Given the description of an element on the screen output the (x, y) to click on. 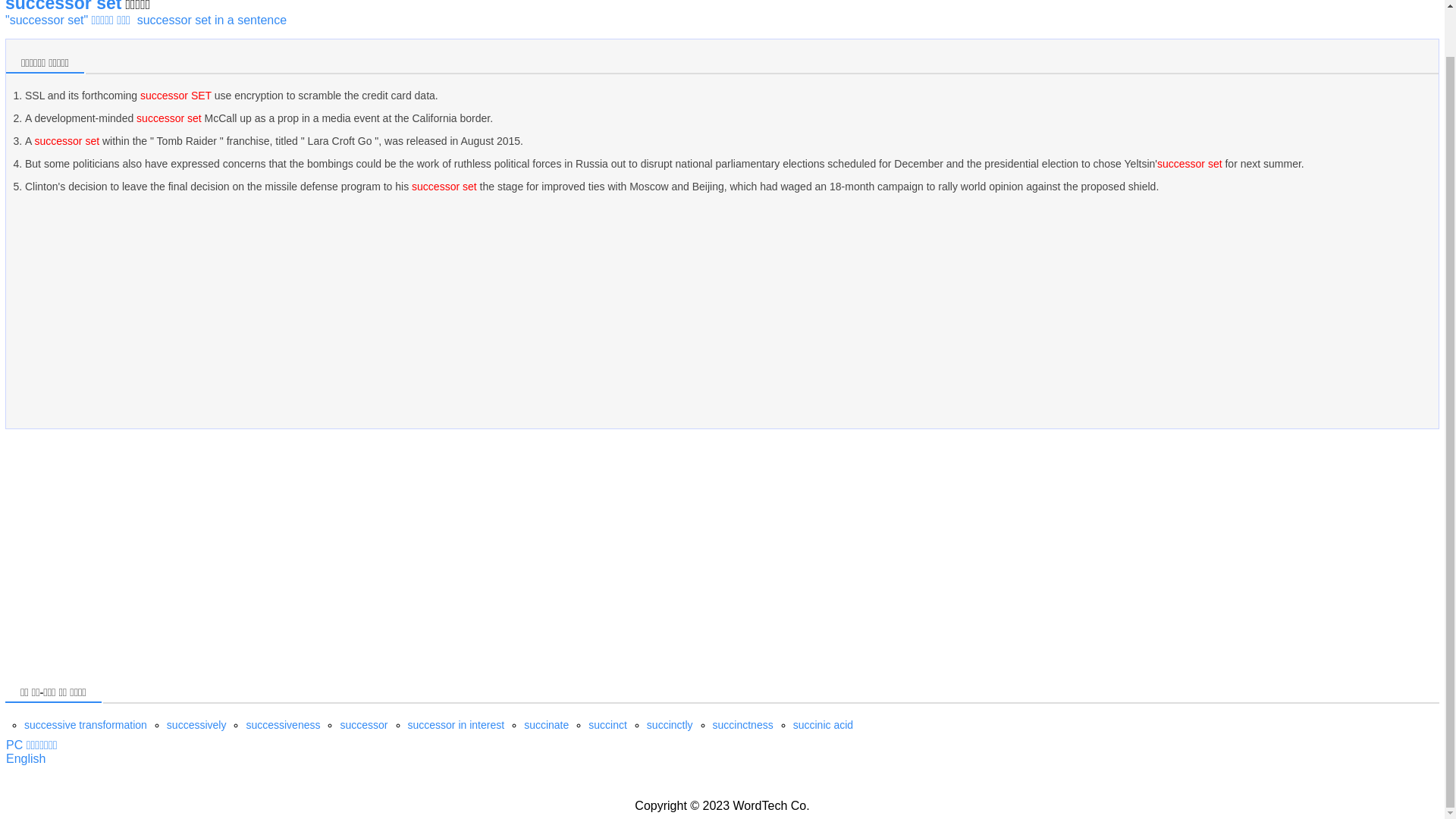
successively (197, 725)
succinic acid (823, 725)
succinct (607, 725)
successor set in Hindi (25, 758)
successor in interest (456, 725)
successive transformation (85, 725)
succinate (546, 725)
succinctly (669, 725)
successor set in a sentence (211, 19)
successiveness (283, 725)
successor (363, 725)
English (25, 758)
succinctness (743, 725)
